Given the description of an element on the screen output the (x, y) to click on. 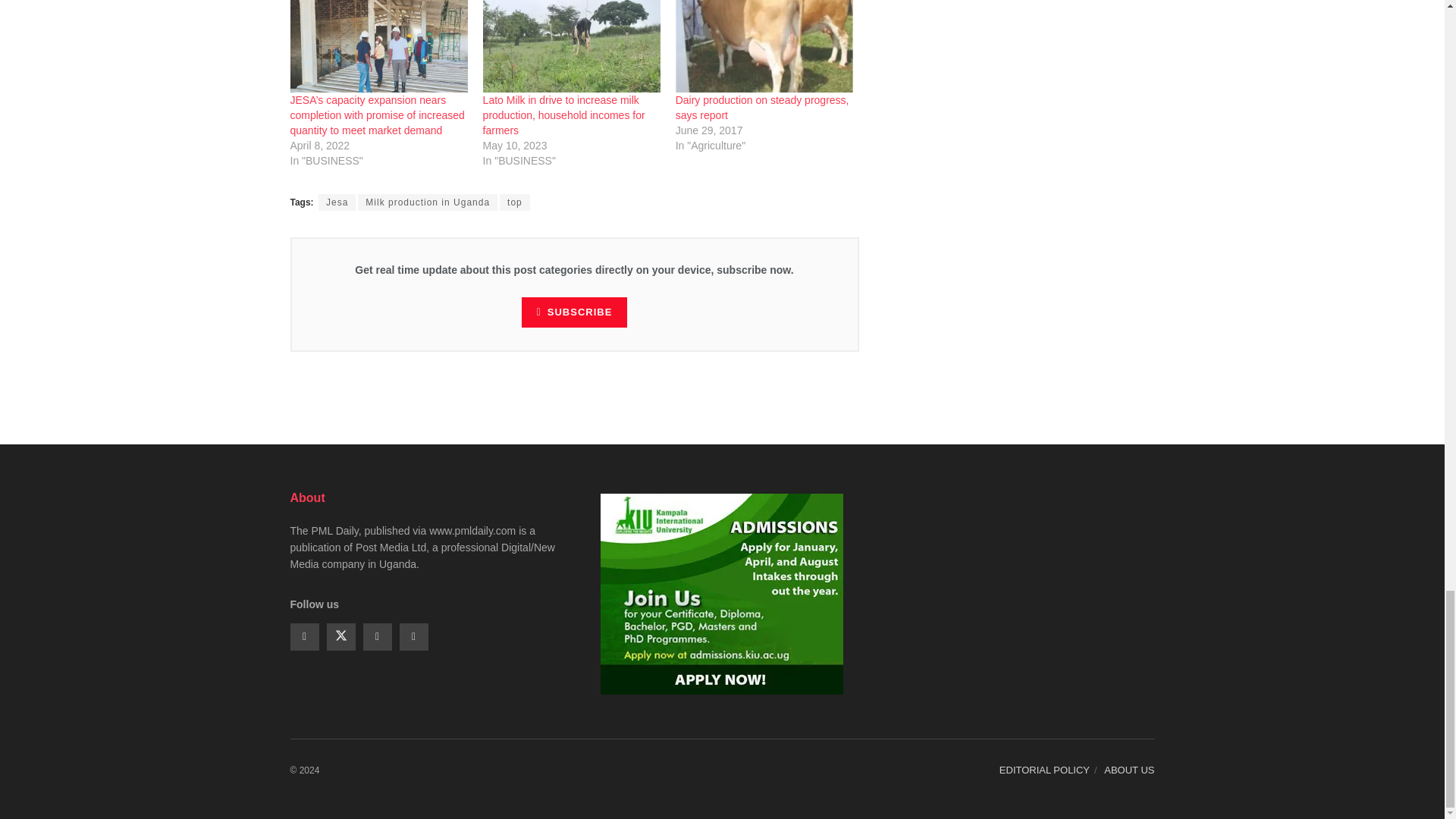
Dairy production on steady progress, says report (764, 46)
Dairy production on steady progress, says report (761, 107)
